Given the description of an element on the screen output the (x, y) to click on. 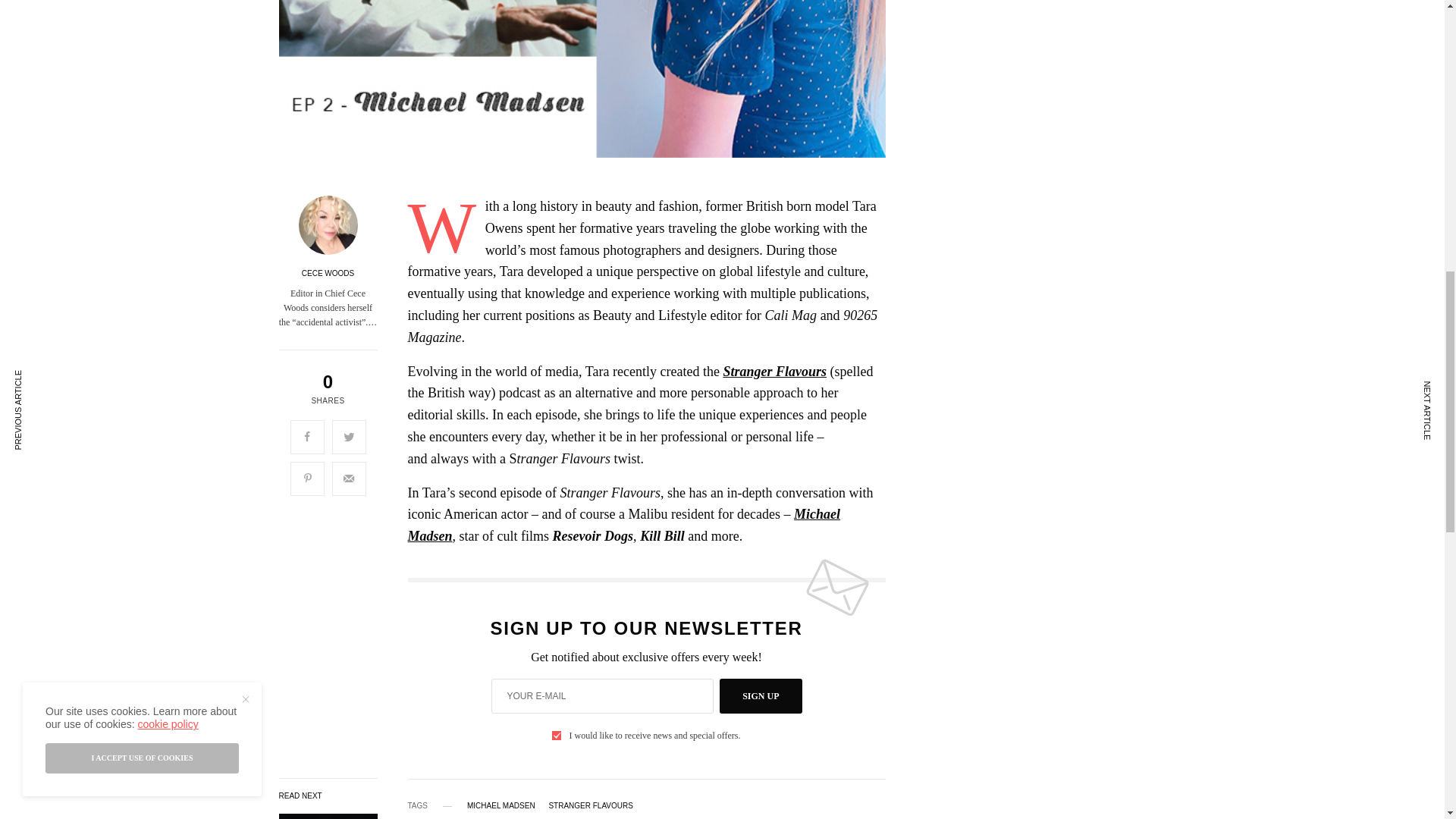
MICHAEL MADSEN (501, 805)
STRANGER FLAVOURS (590, 805)
Michael Madsen (624, 524)
CECE WOODS (328, 273)
SIGN UP (760, 695)
Stranger Flavours (774, 371)
